Given the description of an element on the screen output the (x, y) to click on. 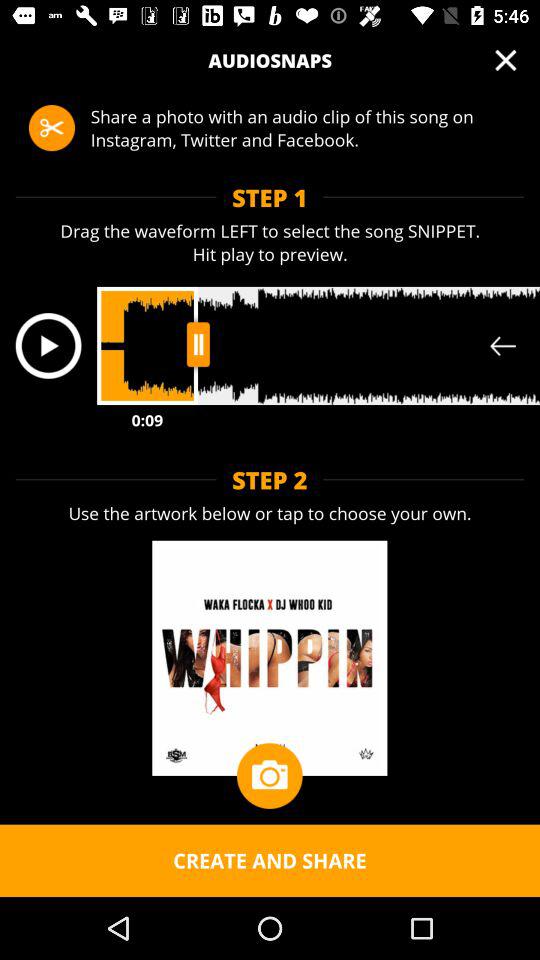
select icon below use the artwork app (269, 775)
